Given the description of an element on the screen output the (x, y) to click on. 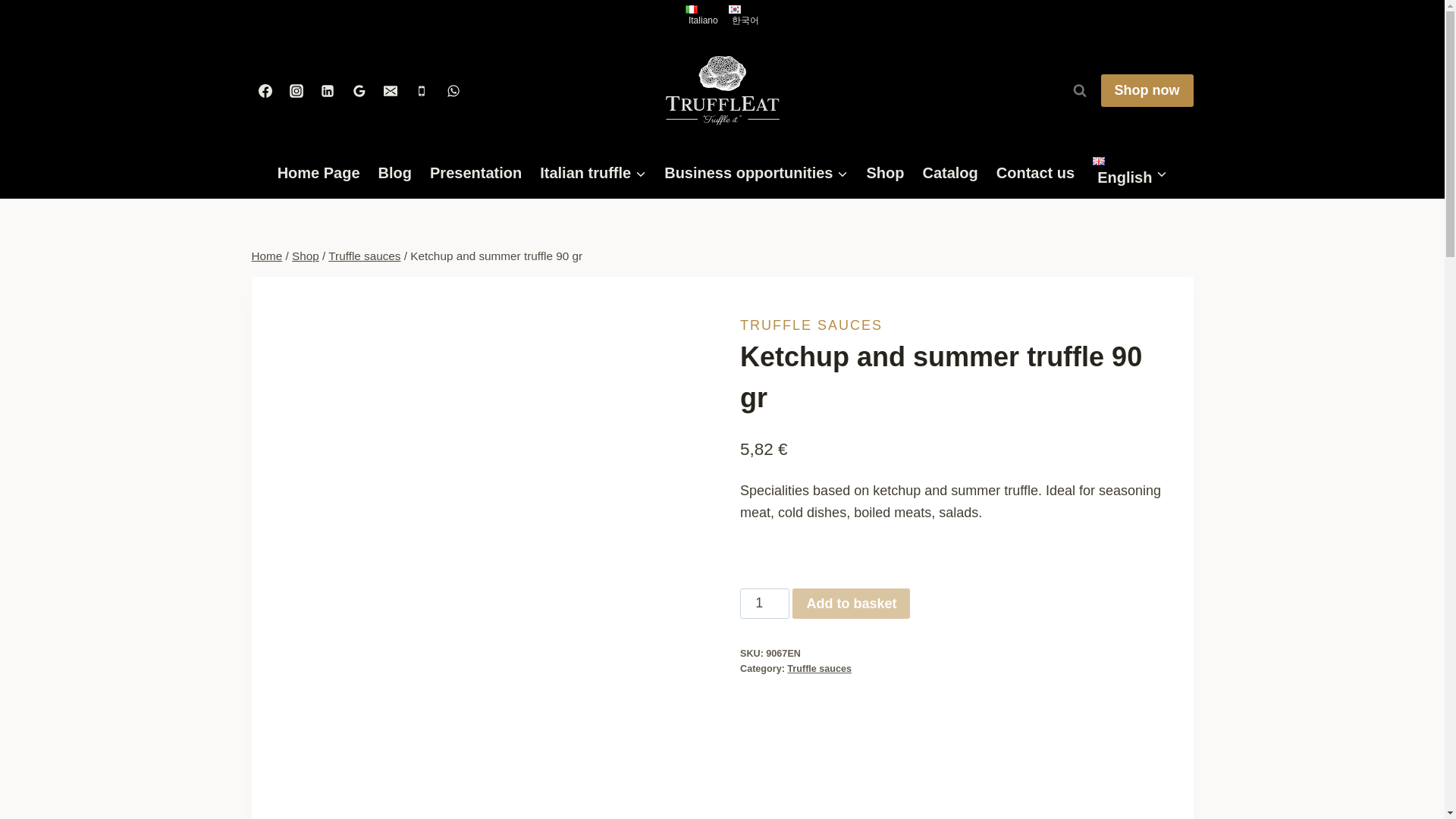
1 (764, 603)
Shop (305, 255)
Catalog (949, 172)
Home Page (318, 172)
Italian truffle (593, 172)
Business opportunities (756, 172)
Shop now (1146, 90)
English (1129, 173)
Blog (394, 172)
Presentation (475, 172)
